Given the description of an element on the screen output the (x, y) to click on. 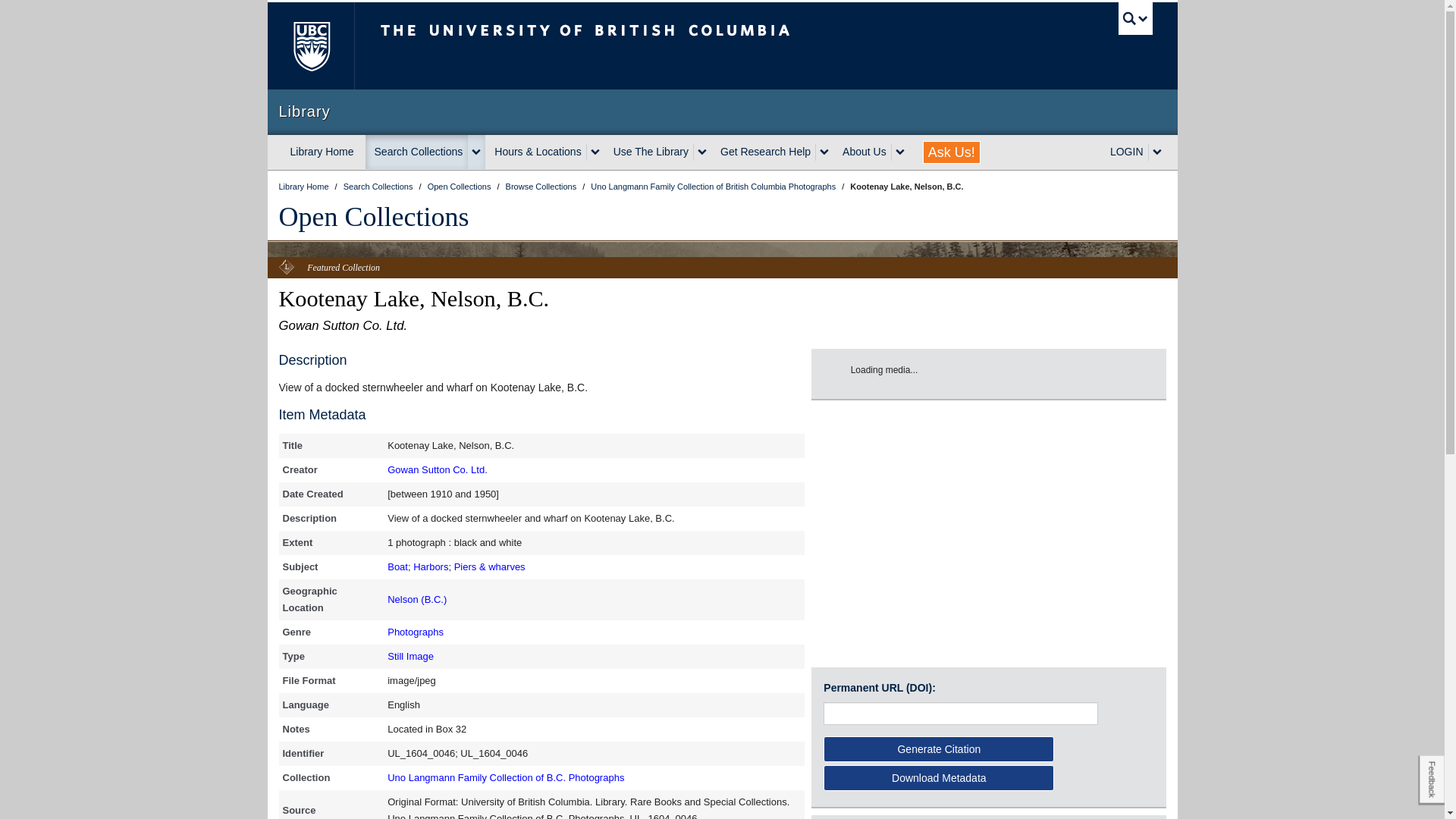
Library Home (322, 151)
Open Collections (460, 185)
The University of British Columbia (309, 45)
UBC Library (305, 185)
Library (722, 111)
Search Collections (416, 151)
Search Collections (378, 185)
Browse Collections (542, 185)
The University of British Columbia (635, 45)
